Given the description of an element on the screen output the (x, y) to click on. 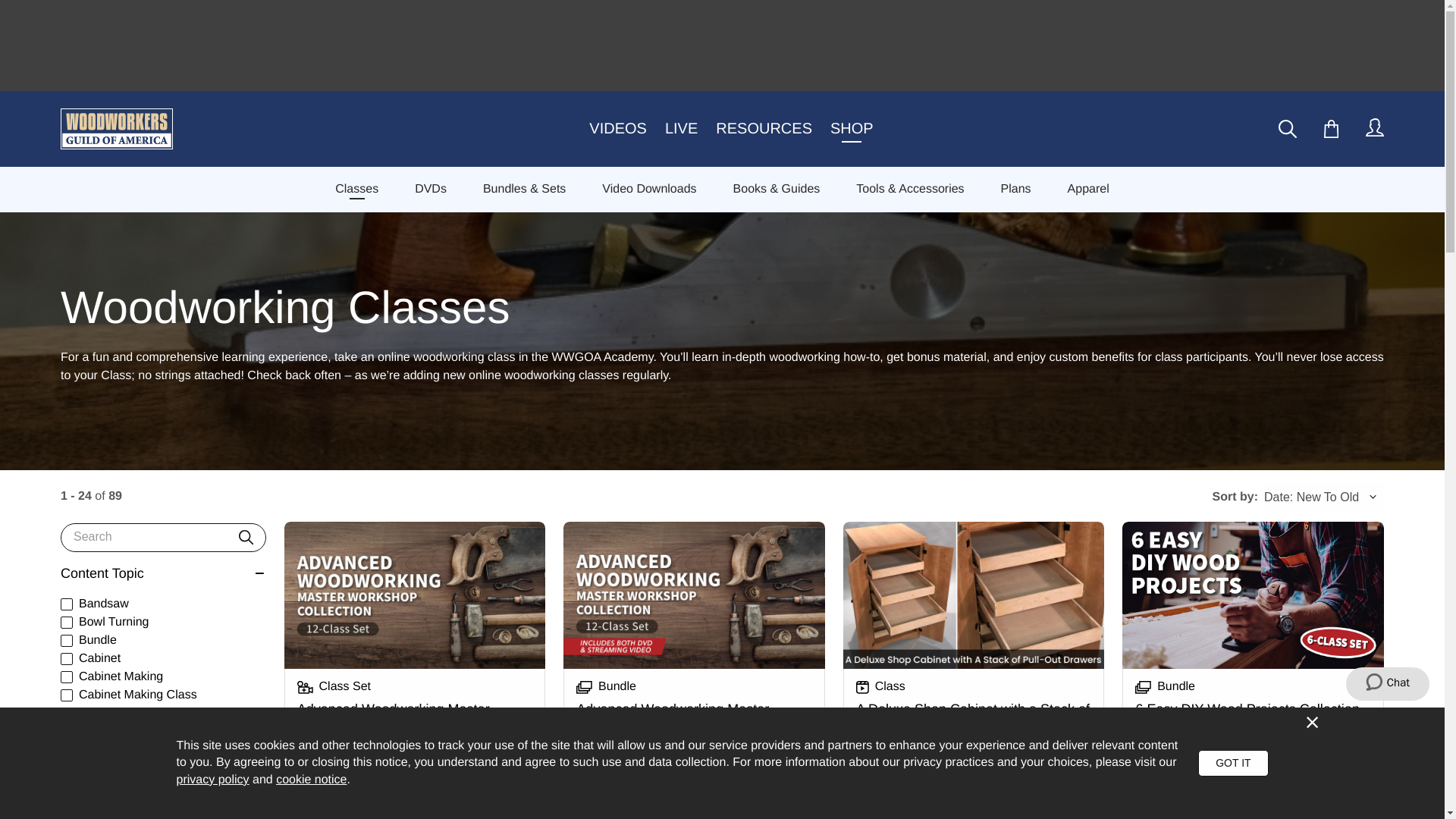
Painting Your Projects (414, 810)
Camp Kitchen (974, 810)
Advanced Woodworking Master Workshop Collection (694, 652)
tag:cabinet (66, 658)
tag:cnc (66, 731)
tag:cnc-machine (66, 749)
tag:bowl-turning (66, 622)
Working with Live Edge Slabs (1253, 810)
Video Downloads (648, 188)
WoodWorkers Guild of America Clickable Logo (121, 128)
